Given the description of an element on the screen output the (x, y) to click on. 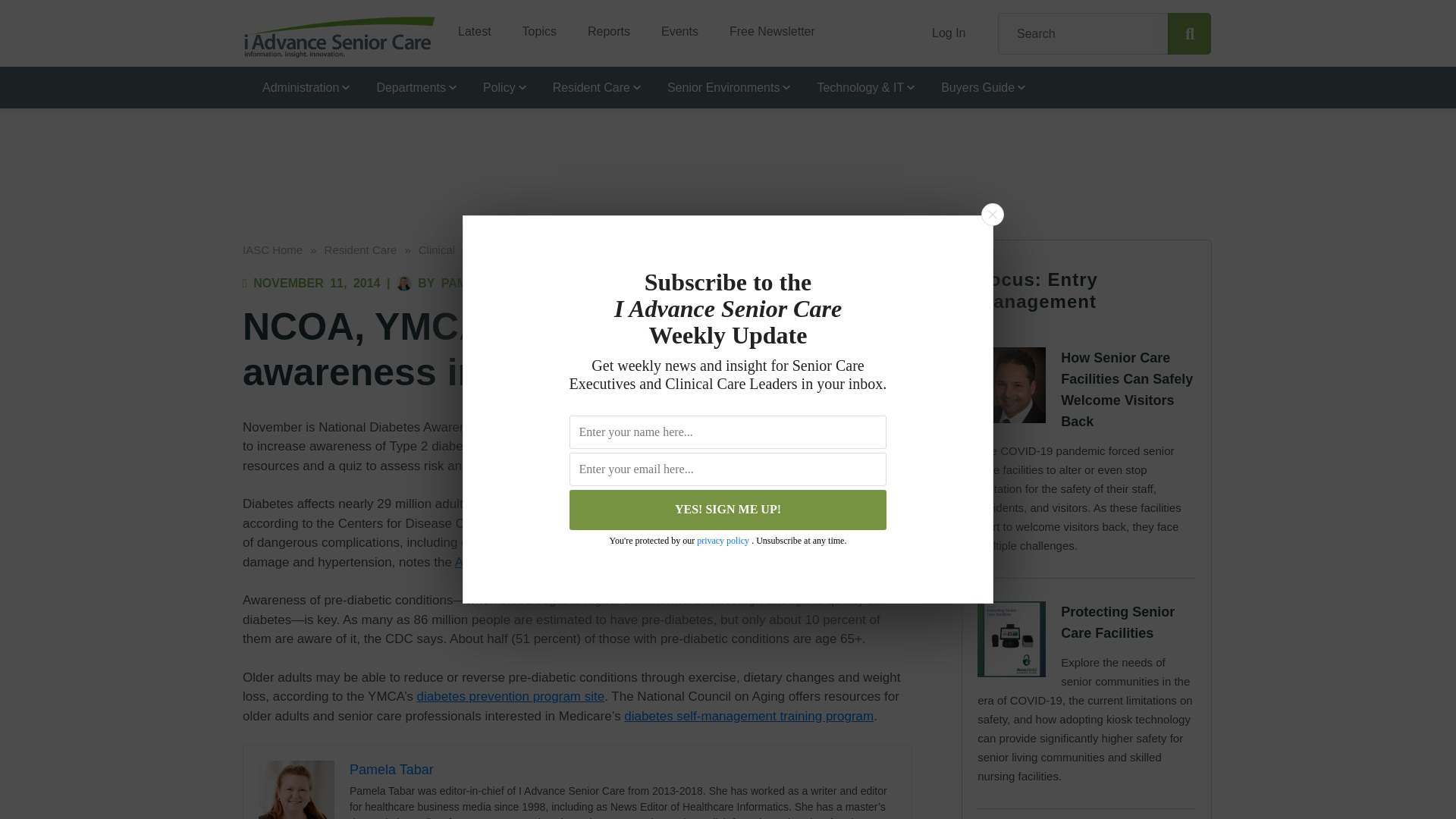
YES! Sign me up! (727, 509)
Resident Care (589, 87)
Events (673, 26)
Reports (603, 26)
Latest (468, 26)
Close (992, 214)
I Advance Senior Care (339, 36)
3rd party ad content (727, 150)
Departments (409, 87)
Free Newsletter (766, 26)
Administration (299, 87)
Topics (533, 26)
Policy (497, 87)
